Given the description of an element on the screen output the (x, y) to click on. 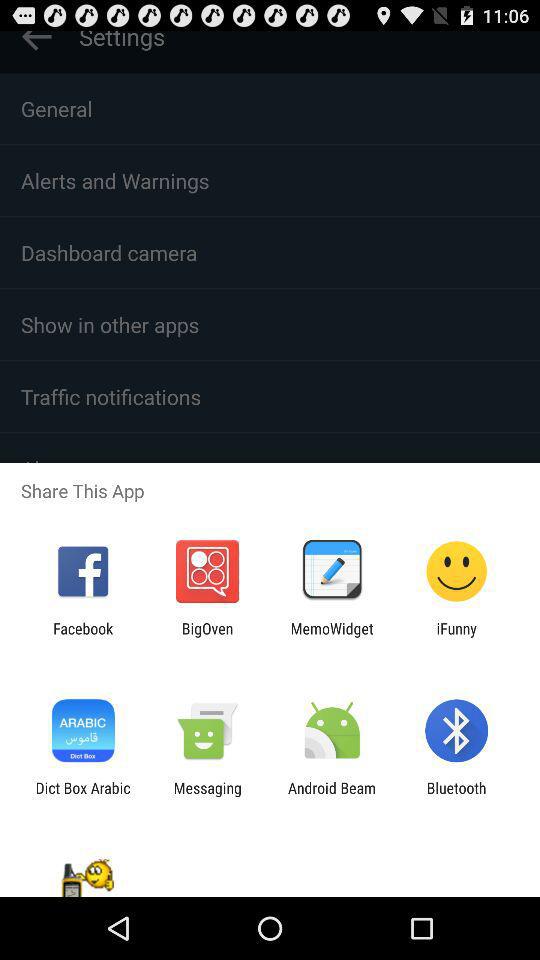
jump until facebook item (83, 637)
